Given the description of an element on the screen output the (x, y) to click on. 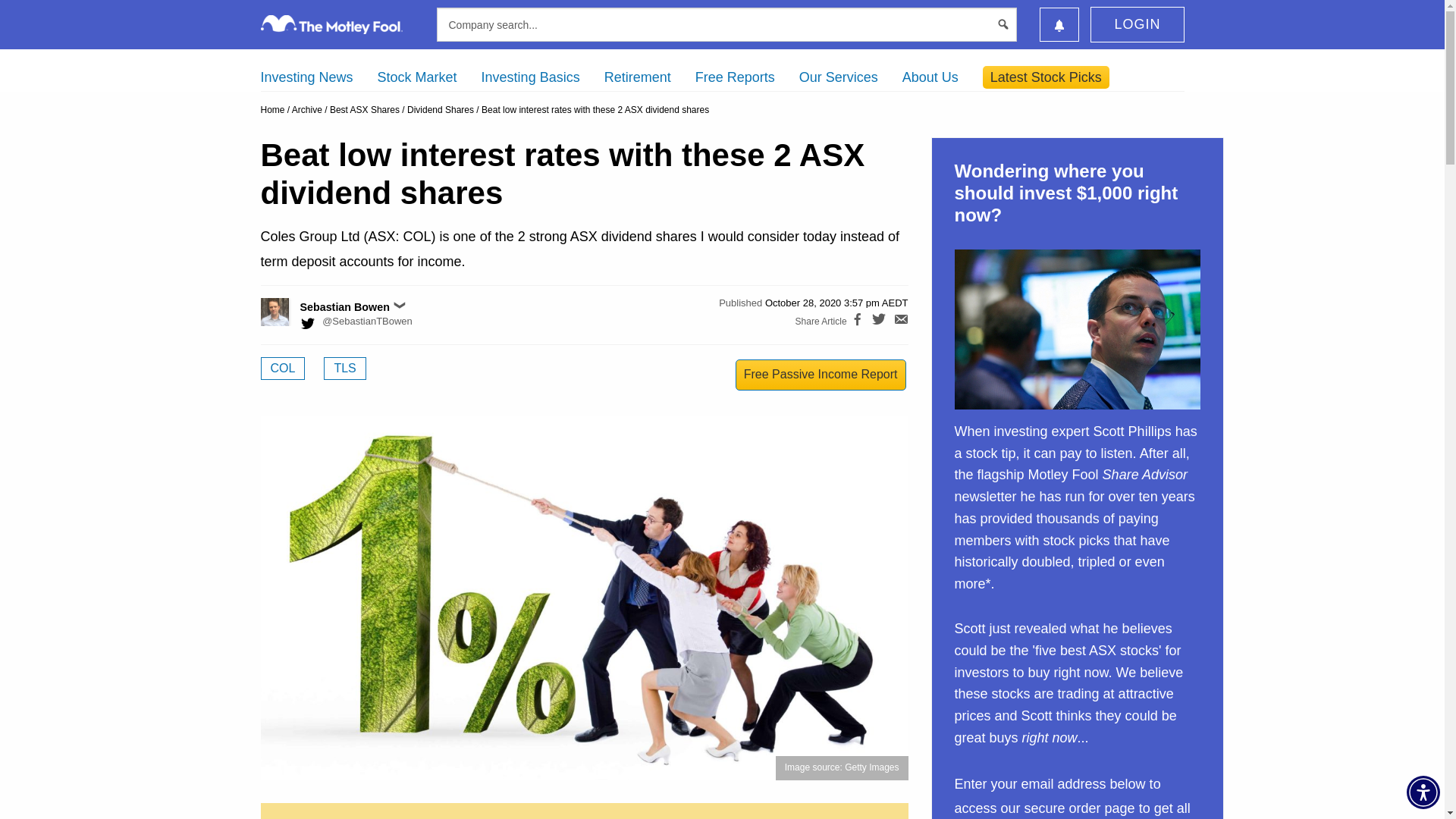
Follow on Twitter (355, 323)
LOGIN (1136, 24)
Accessibility Menu (1422, 792)
See more articles about COL (282, 368)
Sebastian Bowen (290, 311)
See more articles about TLS (344, 368)
Investing News (306, 78)
